Given the description of an element on the screen output the (x, y) to click on. 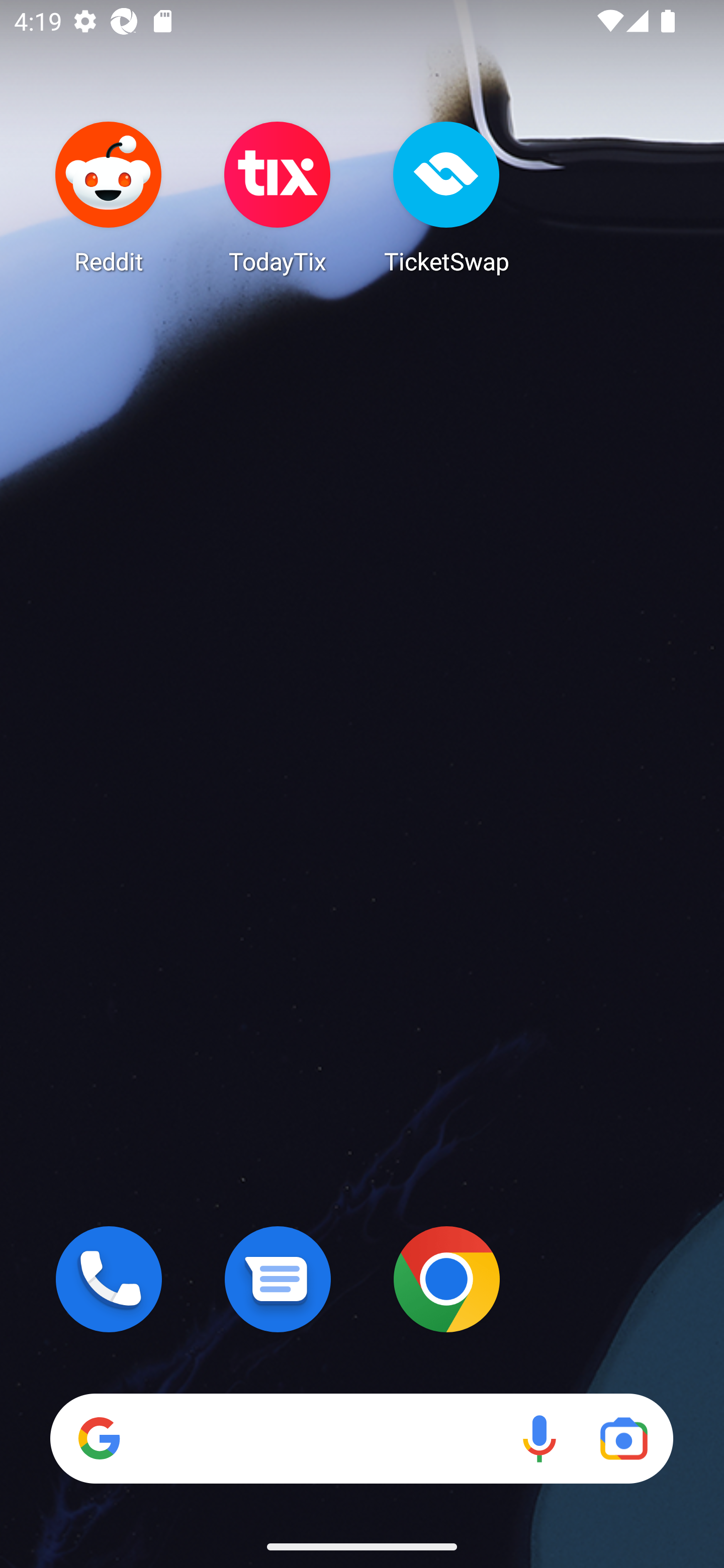
Reddit (108, 196)
TodayTix (277, 196)
TicketSwap (445, 196)
Phone (108, 1279)
Messages (277, 1279)
Chrome (446, 1279)
Voice search (539, 1438)
Google Lens (623, 1438)
